Given the description of an element on the screen output the (x, y) to click on. 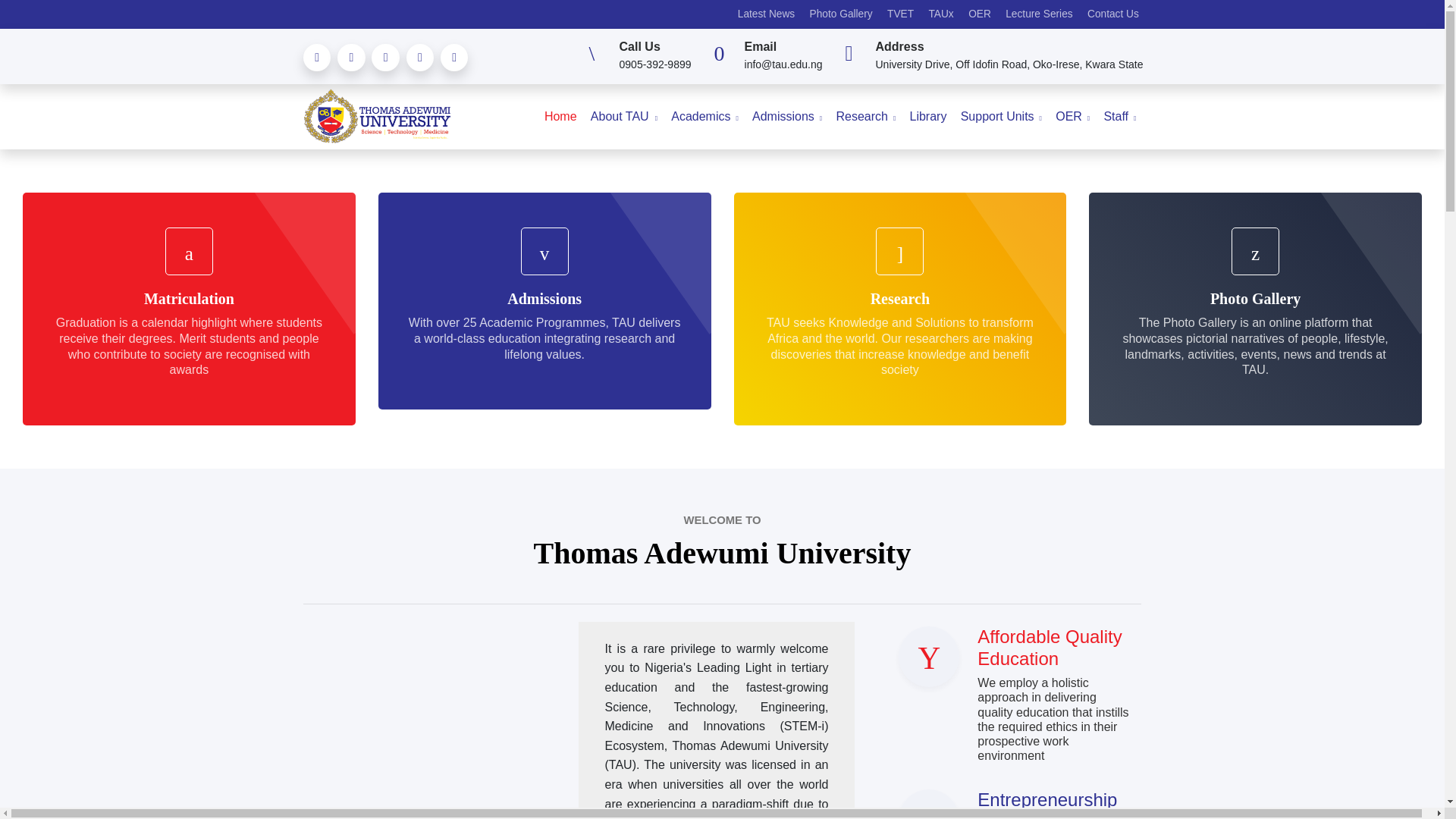
OER (978, 16)
Lecture Series (1039, 16)
Latest News (766, 16)
Academics (704, 116)
About TAU (623, 117)
Photo Gallery (840, 16)
TAUx (941, 16)
TVET (899, 16)
Contact Us (1112, 16)
